Given the description of an element on the screen output the (x, y) to click on. 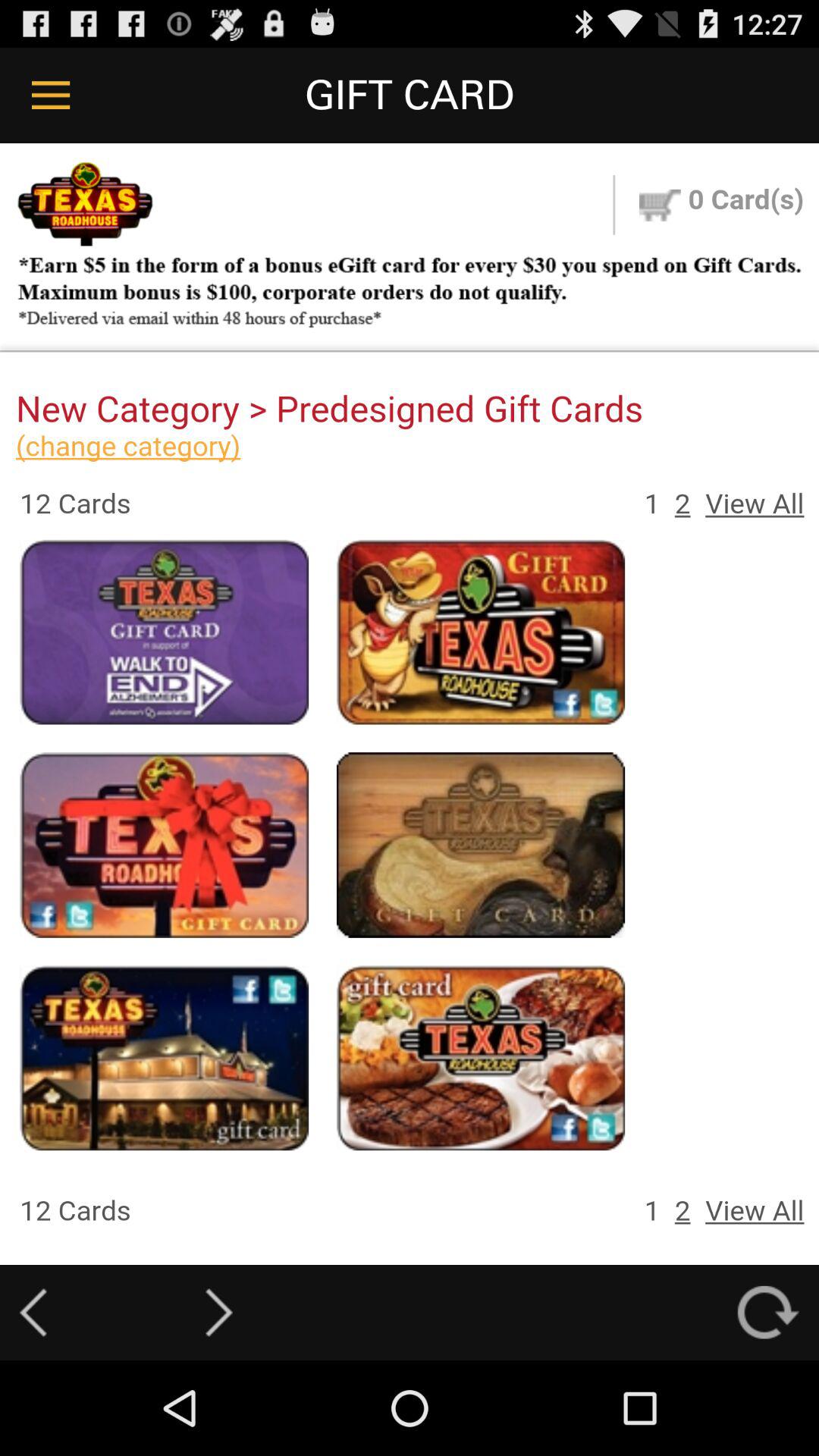
view next page (218, 1312)
